Given the description of an element on the screen output the (x, y) to click on. 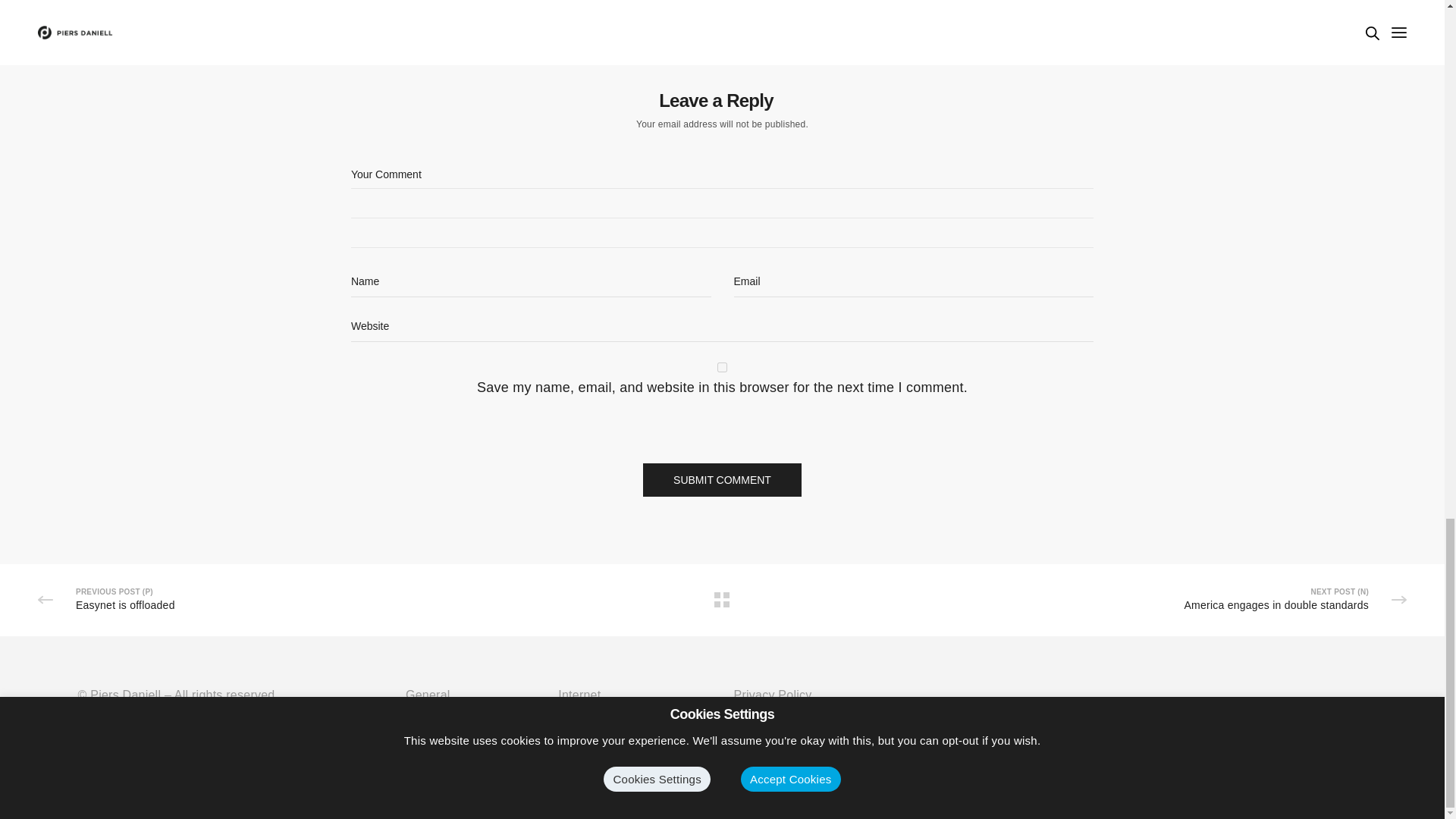
Submit Comment (722, 479)
Submit Comment (722, 479)
yes (721, 367)
Back (721, 599)
General (481, 695)
